Given the description of an element on the screen output the (x, y) to click on. 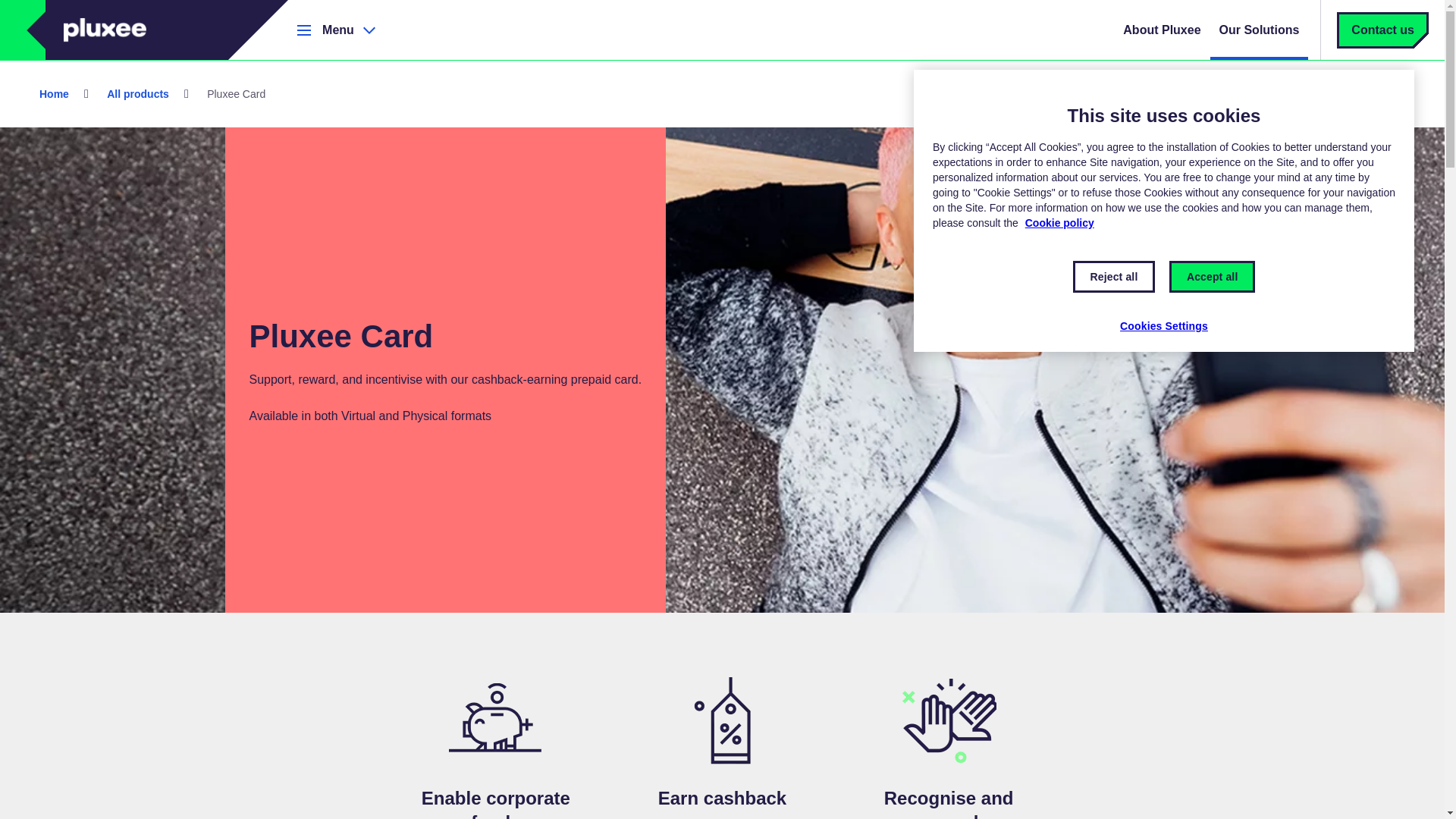
All products (137, 93)
Our Solutions (1258, 29)
Home (54, 93)
About Pluxee (1161, 29)
Contact us (1382, 29)
